Given the description of an element on the screen output the (x, y) to click on. 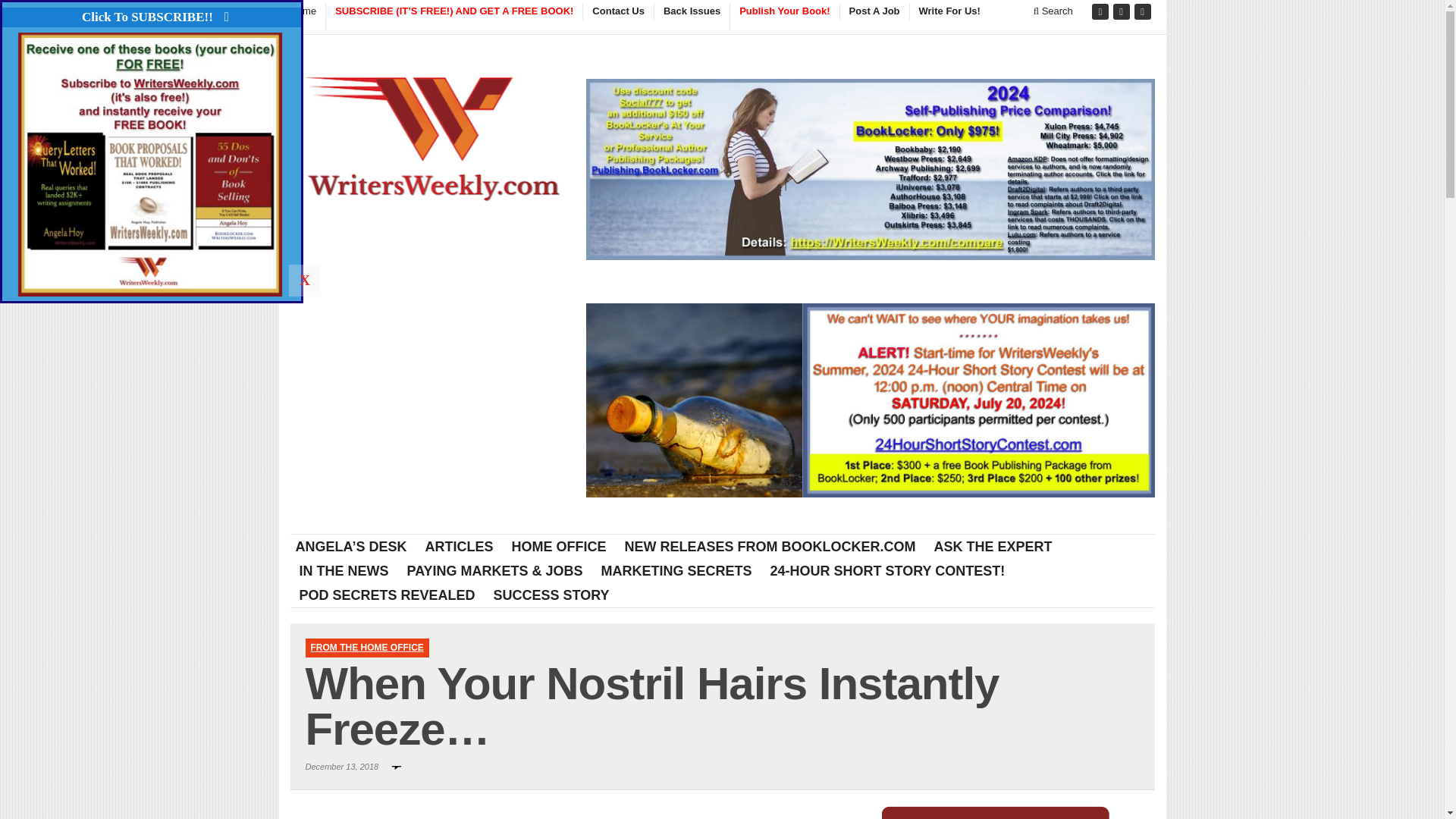
Publish Your Book! (783, 17)
Twitter (1123, 11)
MARKETING SECRETS (676, 570)
Site feed (1144, 11)
ASK THE EXPERT (992, 546)
NEW RELEASES FROM BOOKLOCKER.COM (769, 546)
WritersWeekly.com (433, 143)
Facebook (1101, 11)
ARTICLES (459, 546)
POD SECRETS REVEALED (386, 595)
24-HOUR SHORT STORY CONTEST! (887, 570)
Write For Us! (949, 11)
Post A Job (874, 11)
Home (306, 11)
HOME OFFICE (558, 546)
